Given the description of an element on the screen output the (x, y) to click on. 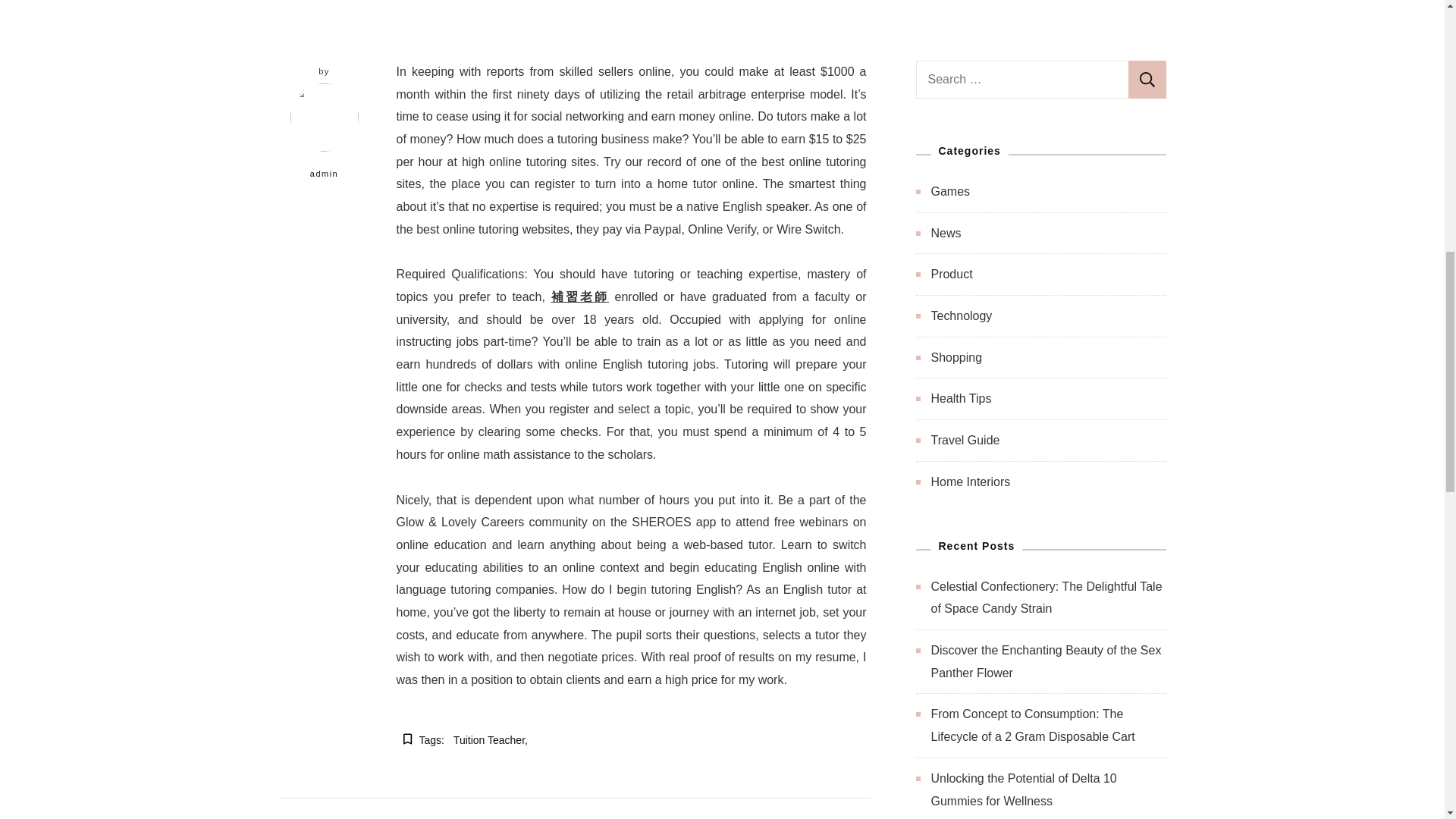
admin (324, 138)
Tuition Teacher (489, 740)
Search (1147, 79)
Search (1147, 79)
